Given the description of an element on the screen output the (x, y) to click on. 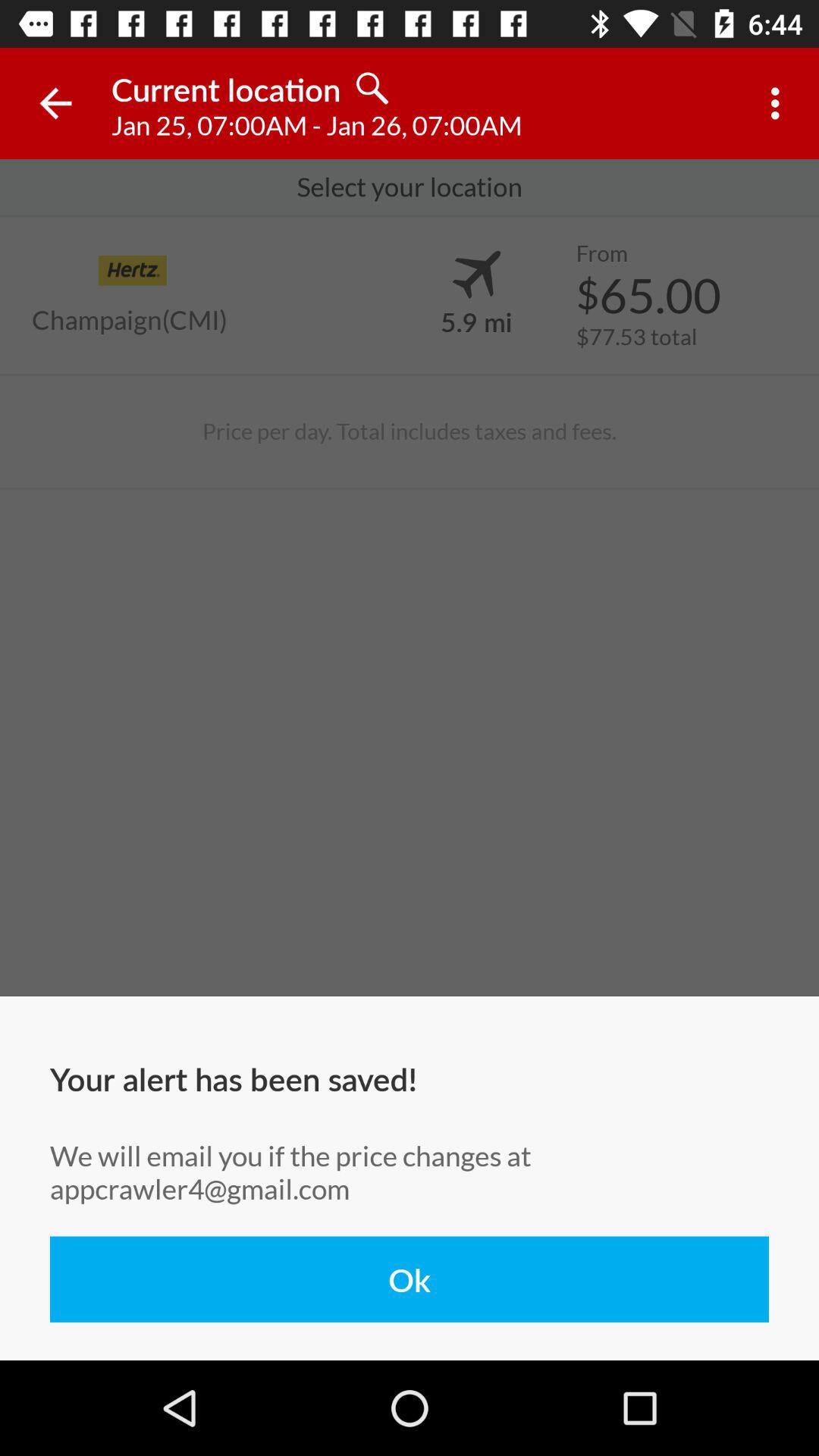
tap icon to the right of the champaign(cmi) item (475, 321)
